Given the description of an element on the screen output the (x, y) to click on. 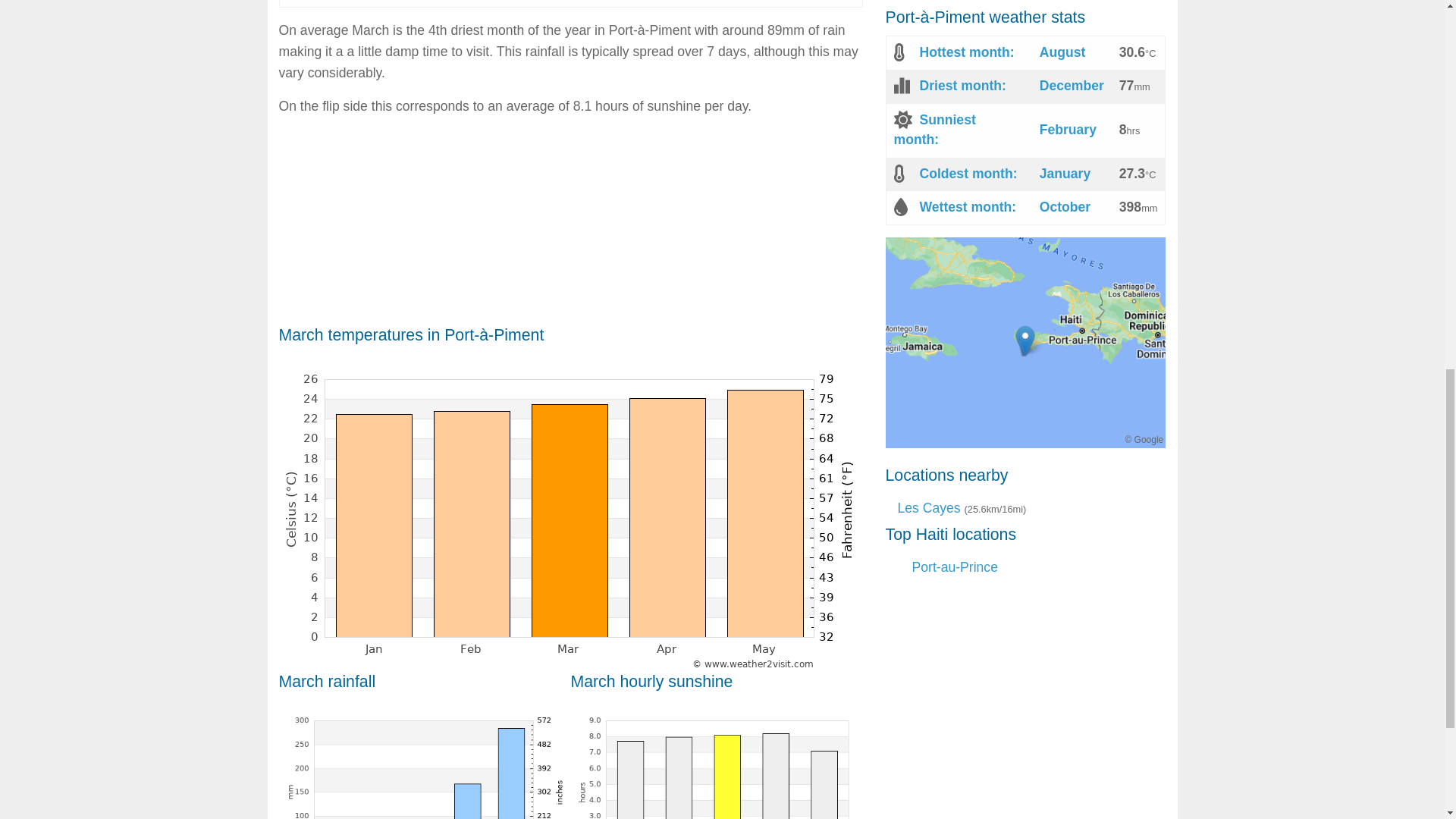
February (1067, 129)
Hottest month: (965, 52)
Coldest month: (967, 173)
August (1062, 52)
December (1071, 85)
Sunniest month: (934, 129)
Driest month: (962, 85)
